Given the description of an element on the screen output the (x, y) to click on. 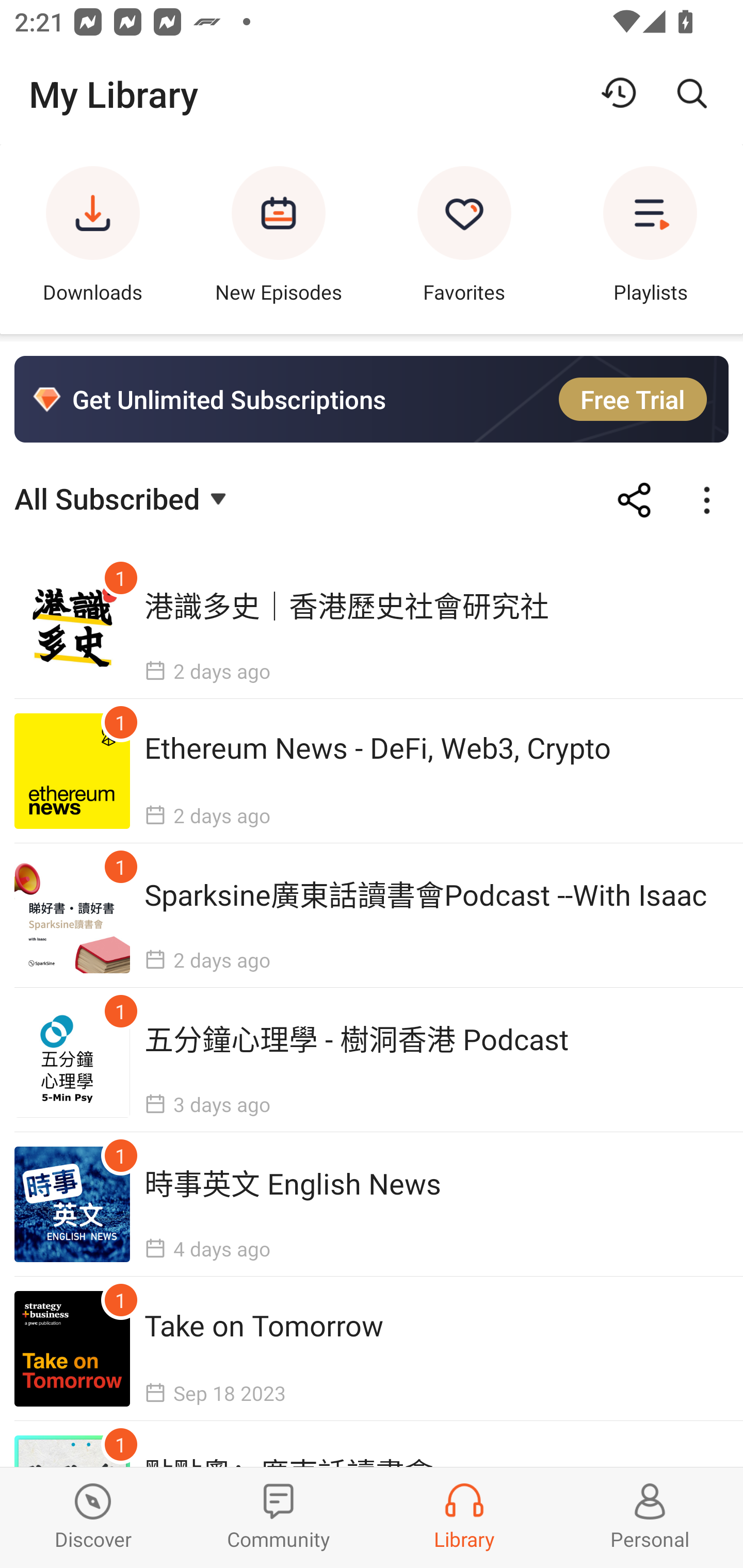
Downloads (92, 238)
New Episodes (278, 238)
Favorites (464, 238)
Playlists (650, 238)
Get Unlimited Subscriptions Free Trial (371, 398)
Free Trial (632, 398)
All Subscribed (123, 497)
港識多史｜香港歷史社會研究社 1 港識多史｜香港歷史社會研究社  2 days ago (371, 627)
時事英文 English News 1 時事英文 English News  4 days ago (371, 1204)
Take on Tomorrow 1 Take on Tomorrow  Sep 18 2023 (371, 1348)
Discover (92, 1517)
Community (278, 1517)
Library (464, 1517)
Profiles and Settings Personal (650, 1517)
